Given the description of an element on the screen output the (x, y) to click on. 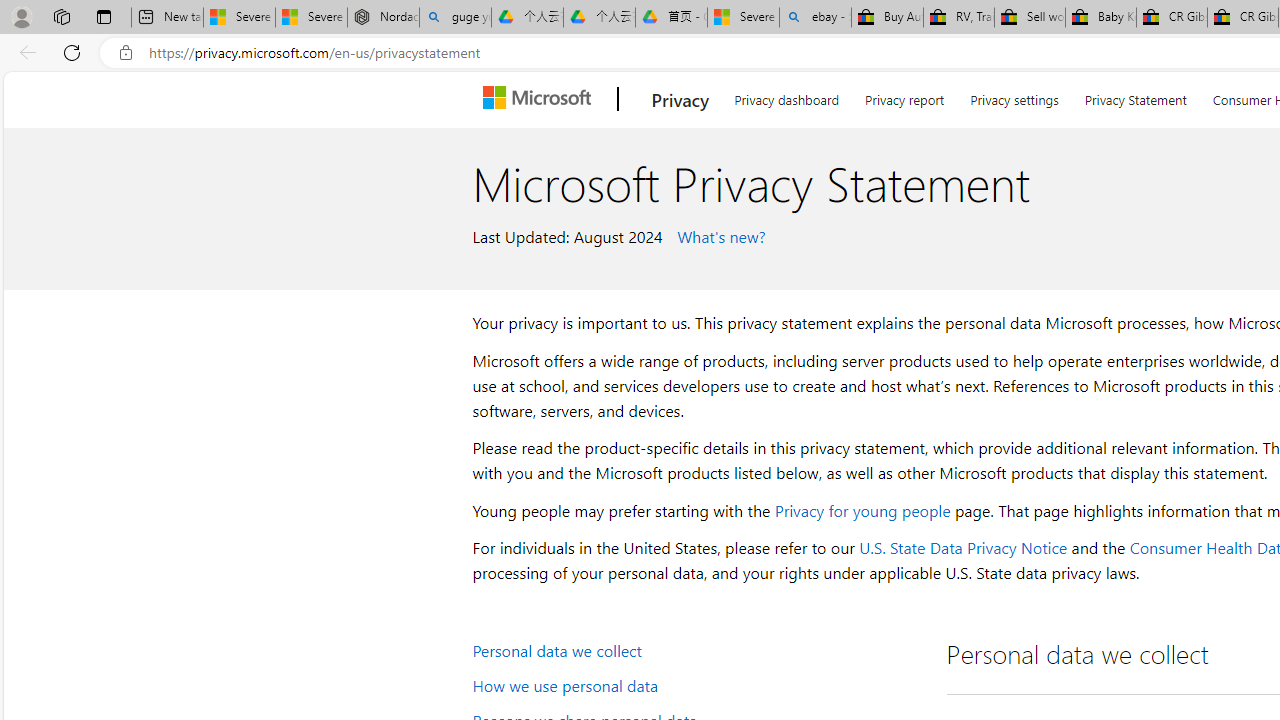
Privacy report (904, 96)
